Given the description of an element on the screen output the (x, y) to click on. 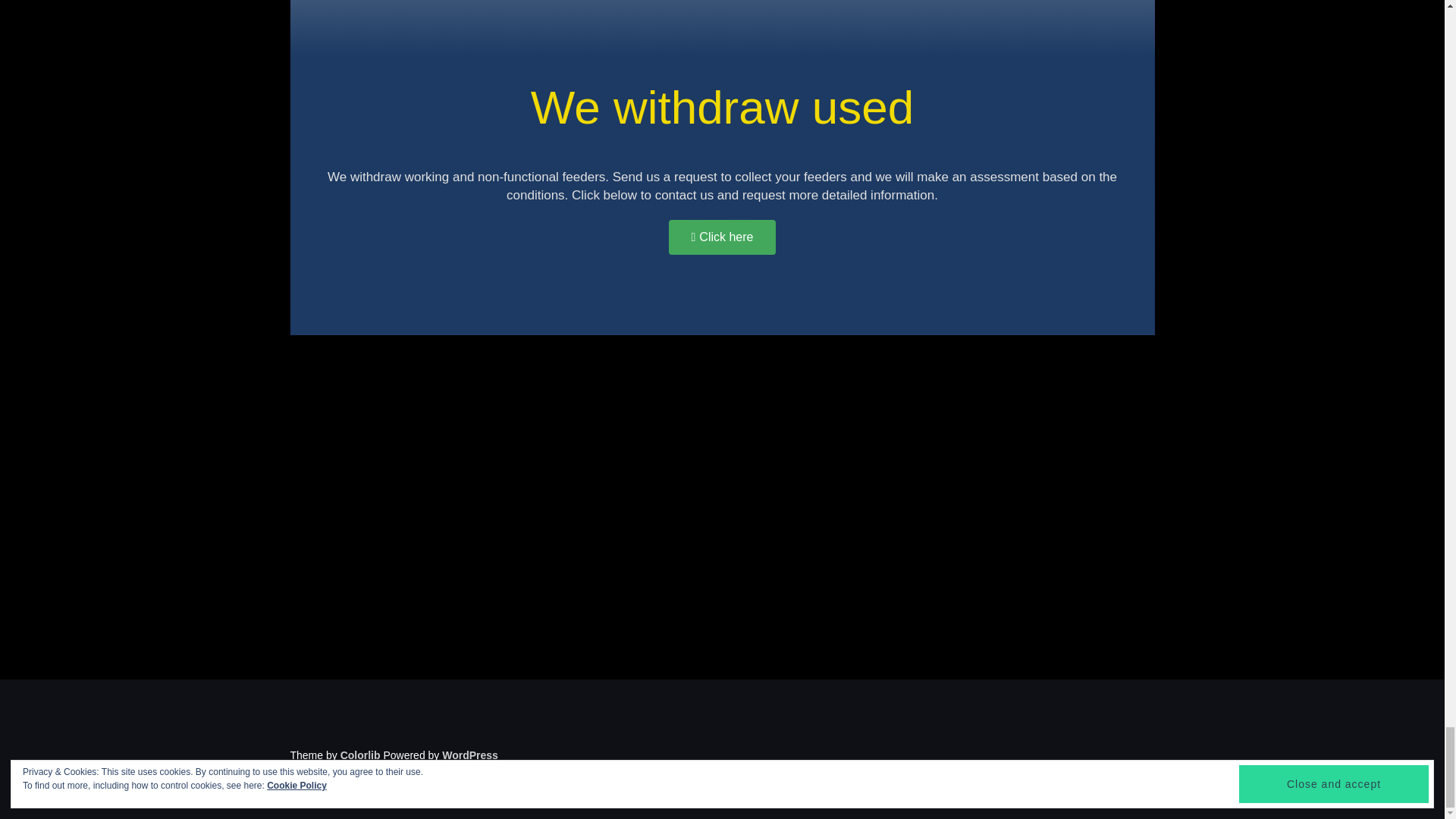
Click here (722, 237)
WordPress.org (469, 755)
Colorlib (360, 755)
Colorlib (360, 755)
WordPress (469, 755)
